Given the description of an element on the screen output the (x, y) to click on. 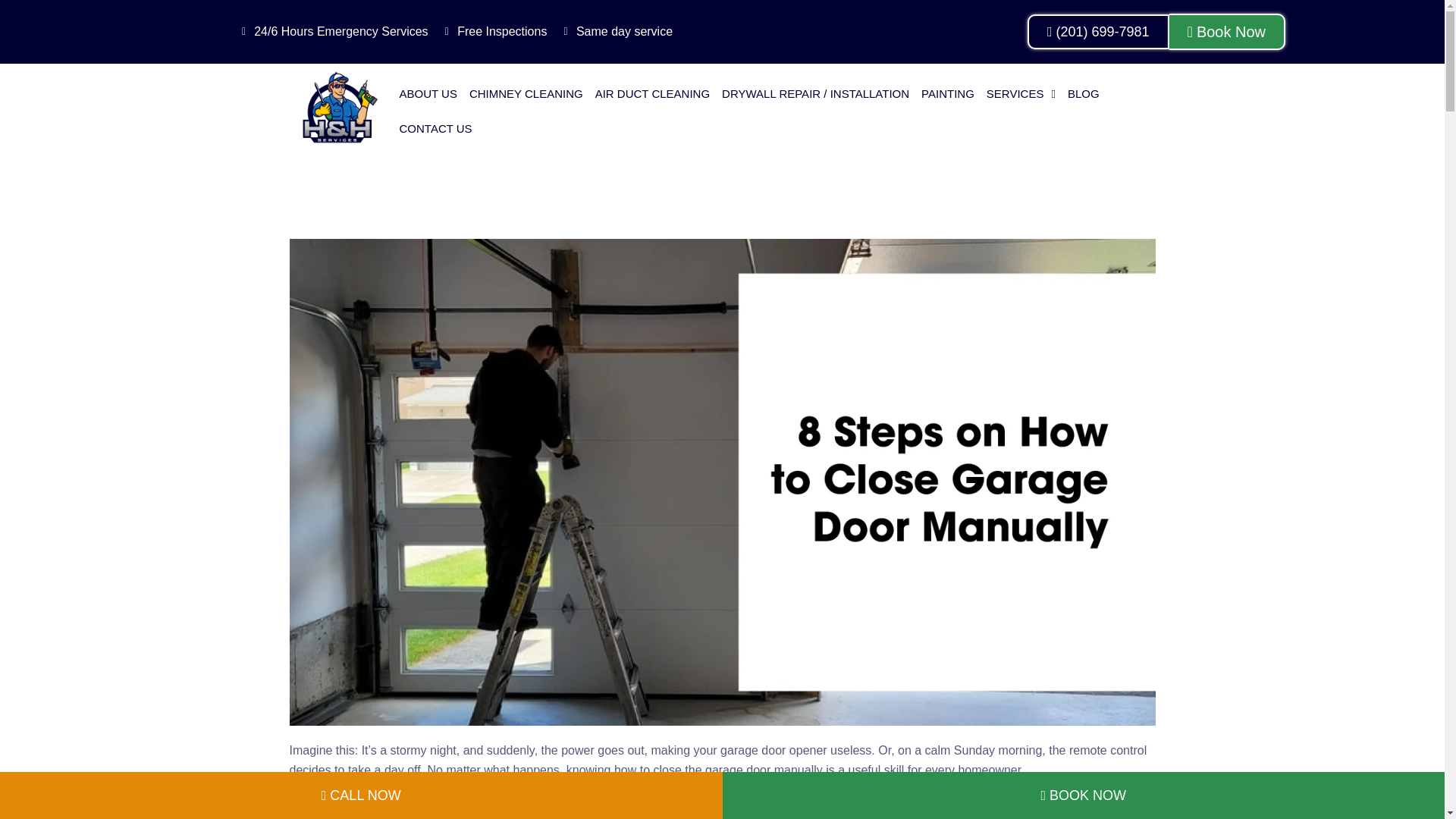
Book Now (1227, 31)
ABOUT US (428, 93)
BLOG (1083, 93)
PAINTING (947, 93)
CHIMNEY CLEANING (526, 93)
SERVICES (1020, 93)
AIR DUCT CLEANING (652, 93)
CONTACT US (435, 128)
